Given the description of an element on the screen output the (x, y) to click on. 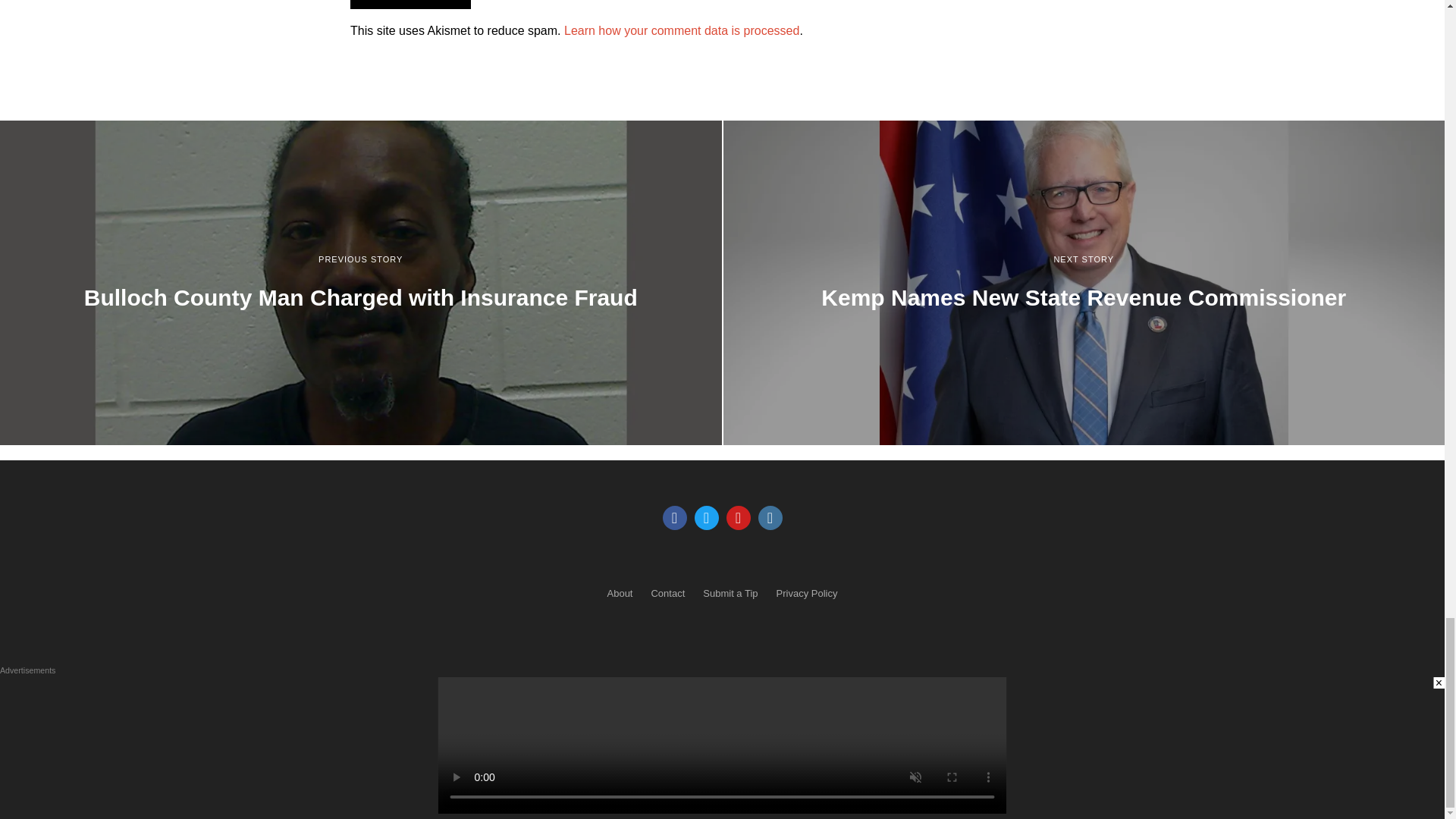
Post Comment (410, 4)
